Given the description of an element on the screen output the (x, y) to click on. 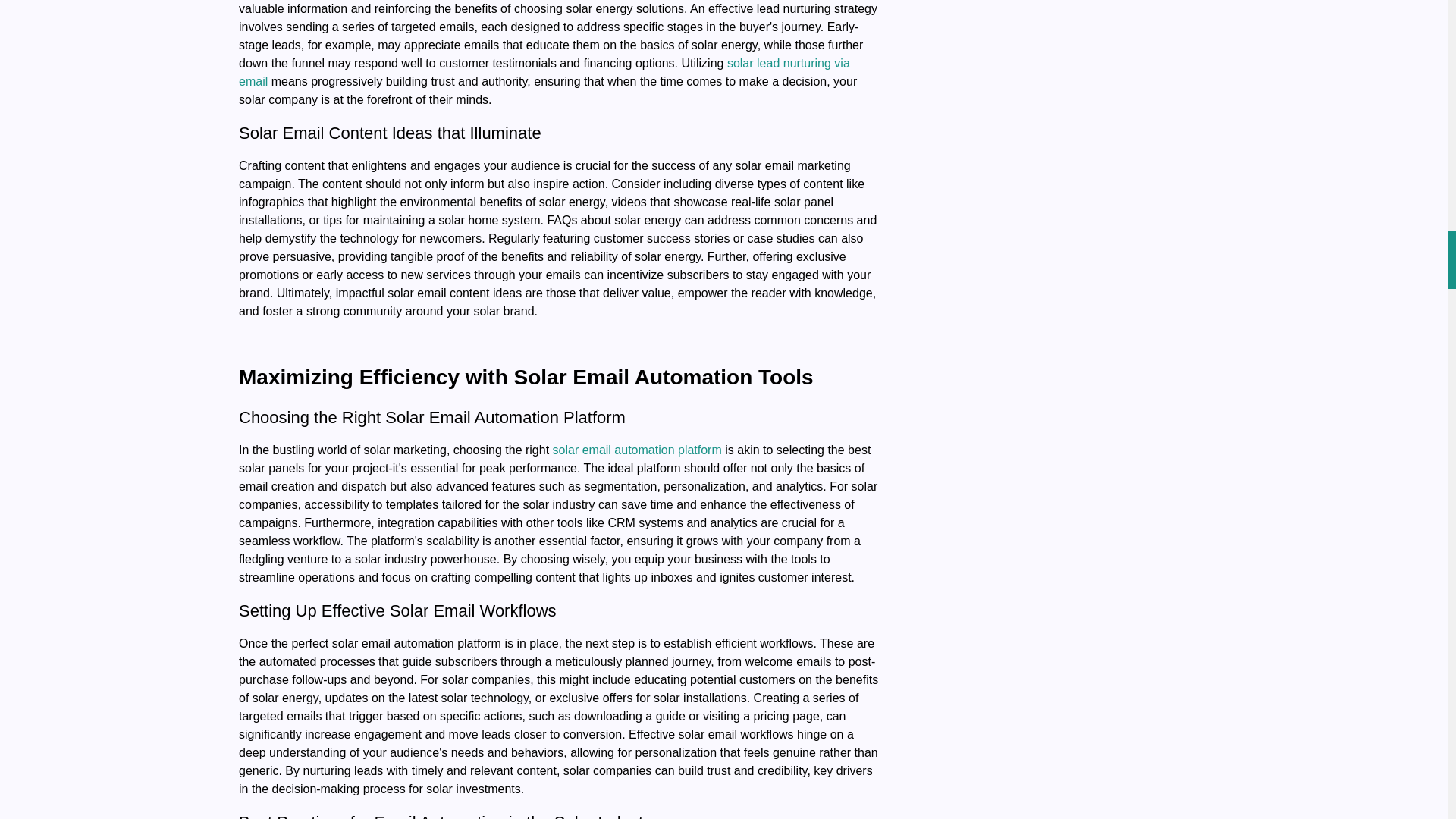
solar email automation platform (637, 449)
solar lead nurturing via email (544, 71)
